Given the description of an element on the screen output the (x, y) to click on. 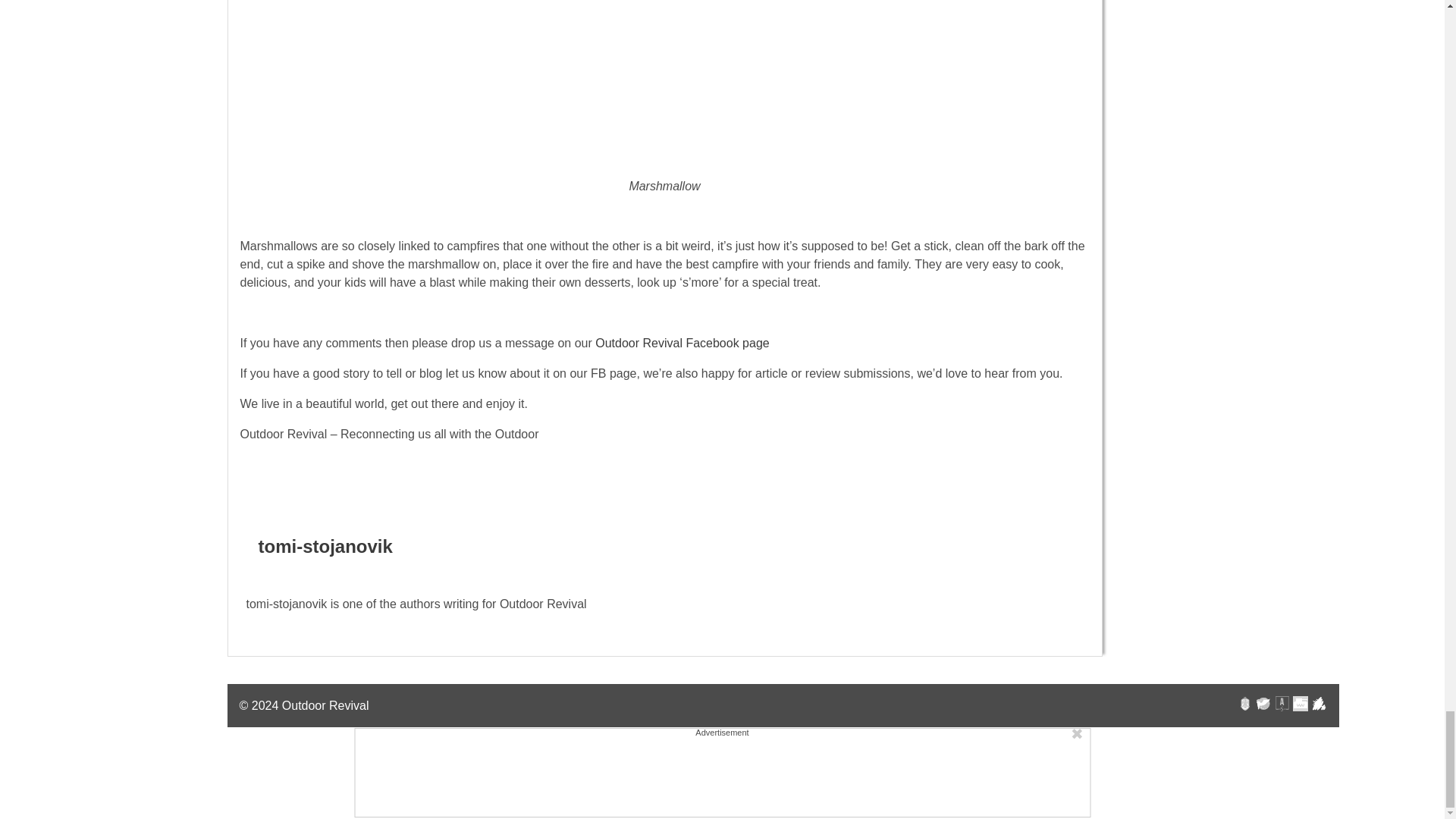
tomi-stojanovik (324, 546)
Outdoor Revival Facebook page (681, 342)
Outdoor Revival (325, 705)
